Given the description of an element on the screen output the (x, y) to click on. 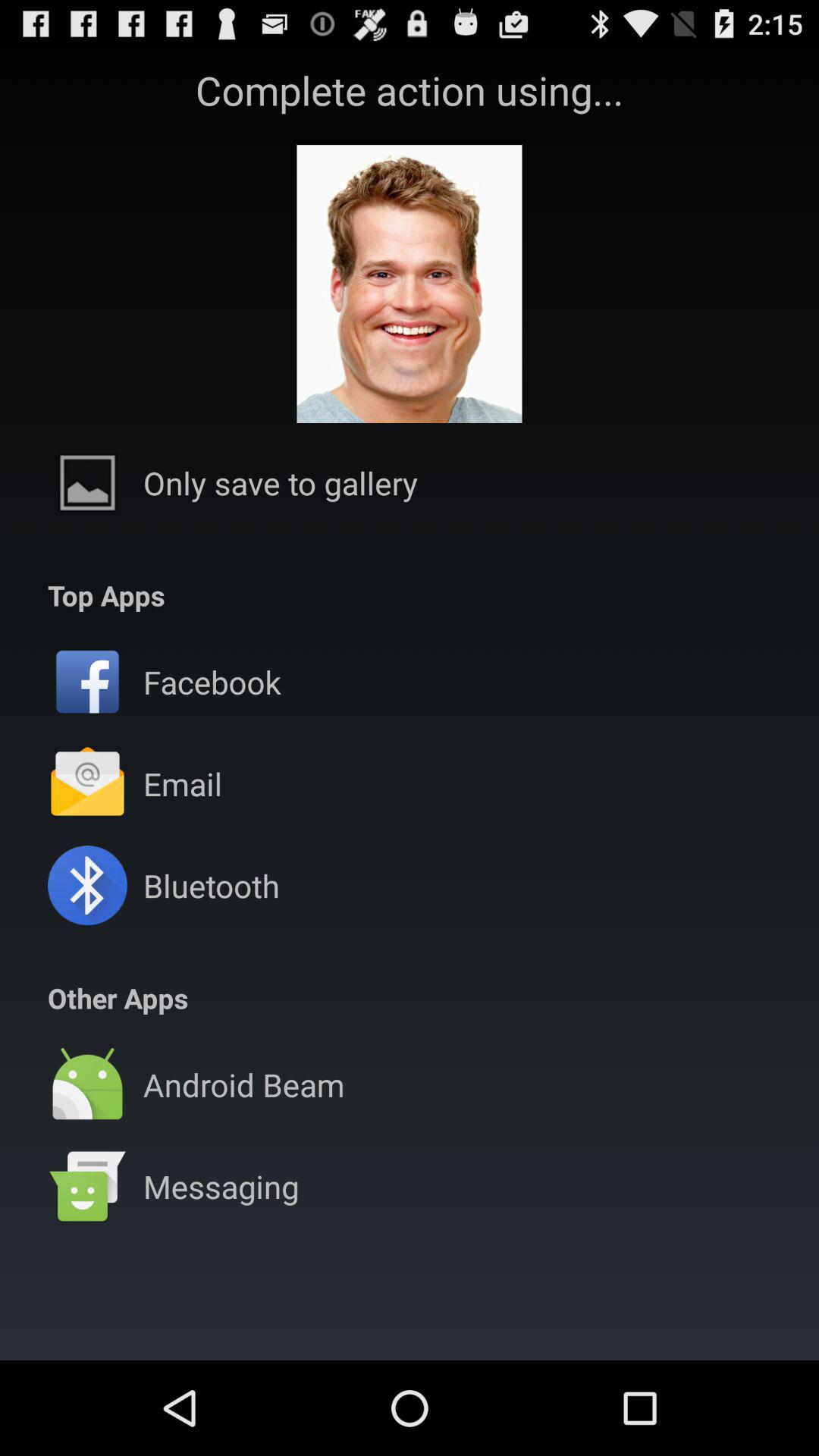
open email (182, 783)
